Given the description of an element on the screen output the (x, y) to click on. 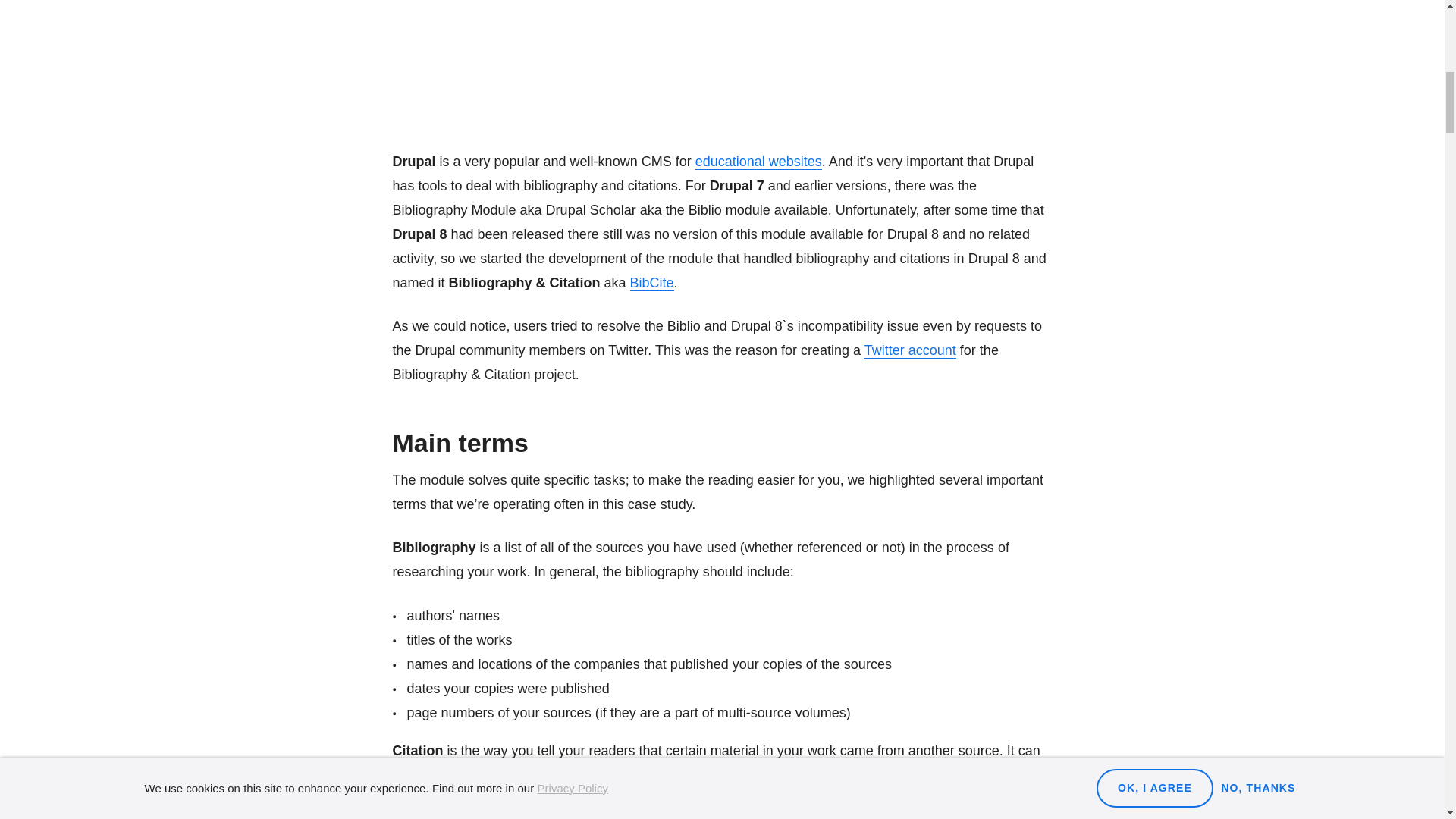
educational websites (758, 161)
BibCite (652, 283)
Twitter account (910, 350)
